Given the description of an element on the screen output the (x, y) to click on. 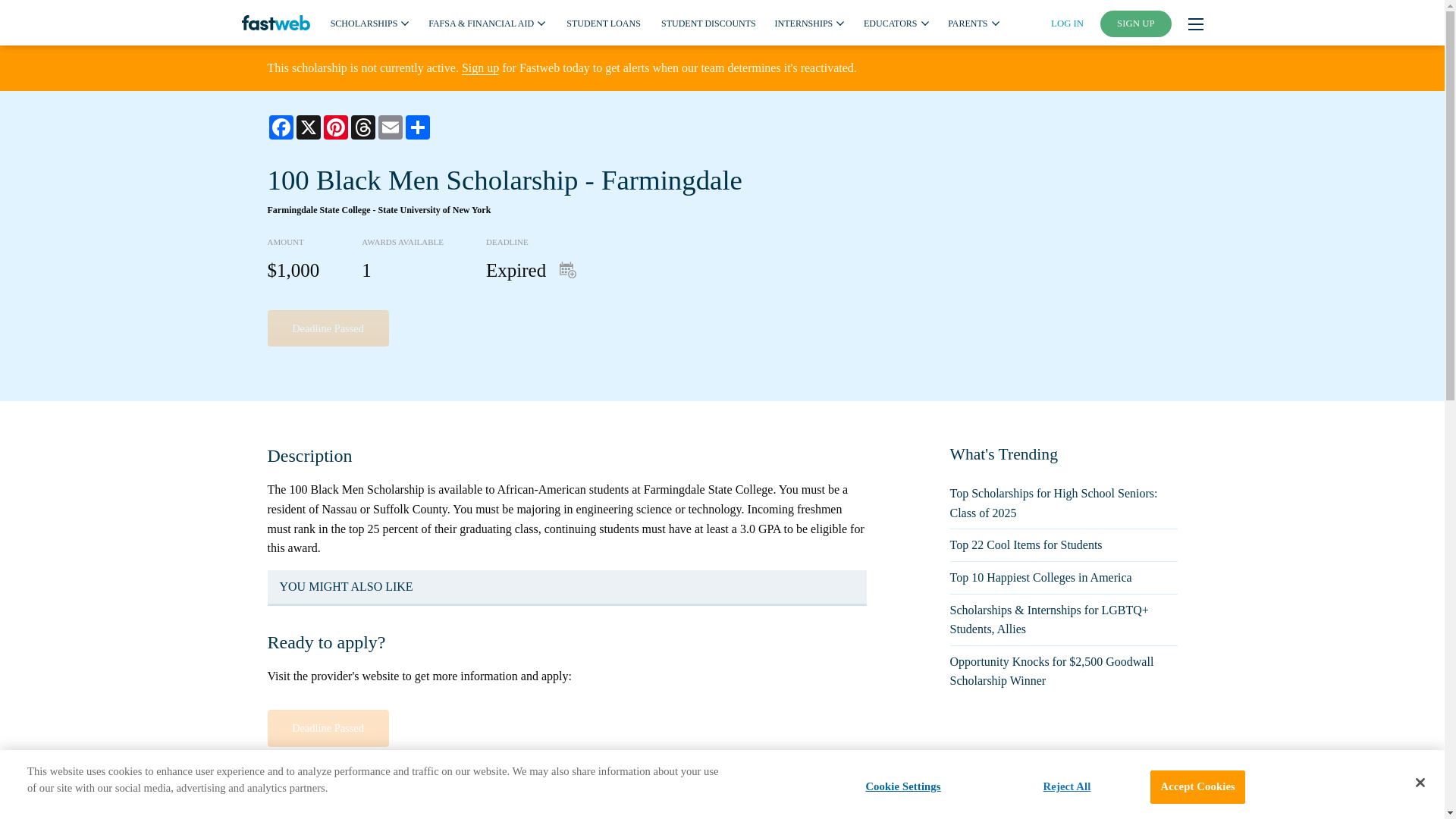
STUDENT LOANS (603, 22)
STUDENT DISCOUNTS (708, 22)
LOG IN (1067, 23)
SIGN UP (1136, 23)
